Given the description of an element on the screen output the (x, y) to click on. 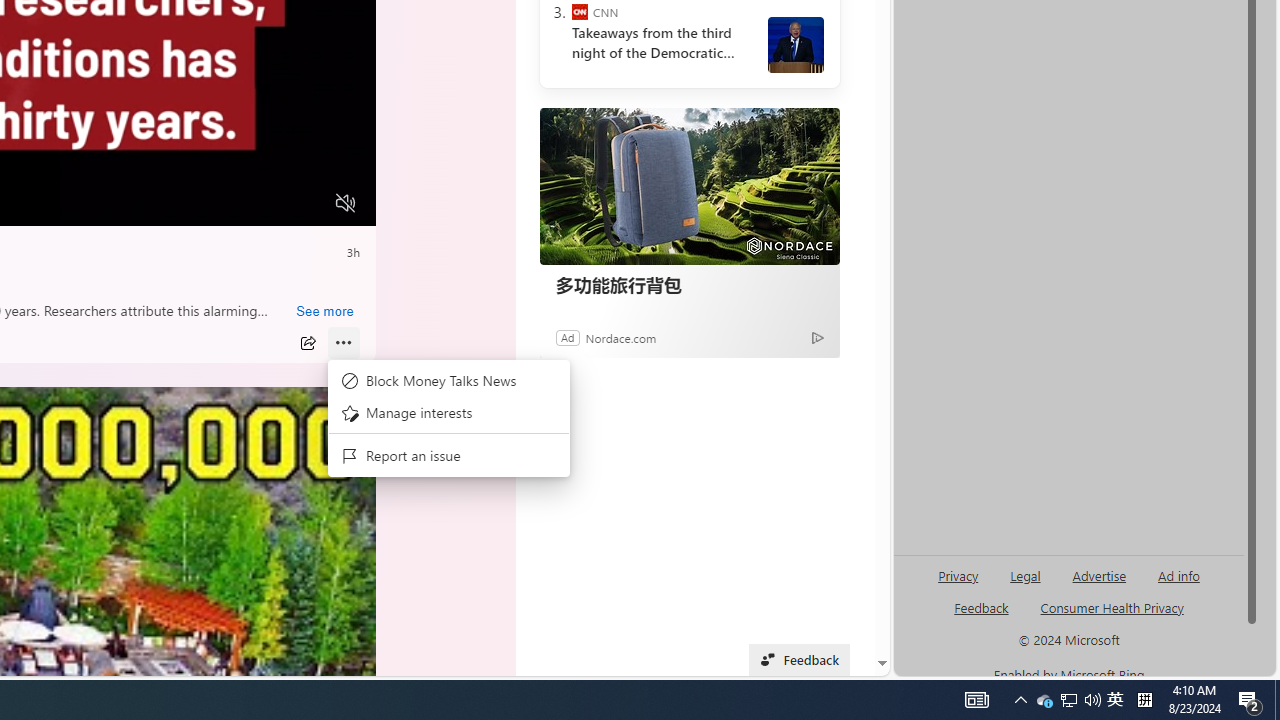
More (343, 343)
Report an issue menu item (448, 456)
Nordace.com (620, 337)
Captions (268, 203)
Share (307, 343)
Unmute (346, 203)
AutomationID: sb_feedback (980, 607)
Fullscreen (307, 203)
Quality Settings (227, 203)
